Given the description of an element on the screen output the (x, y) to click on. 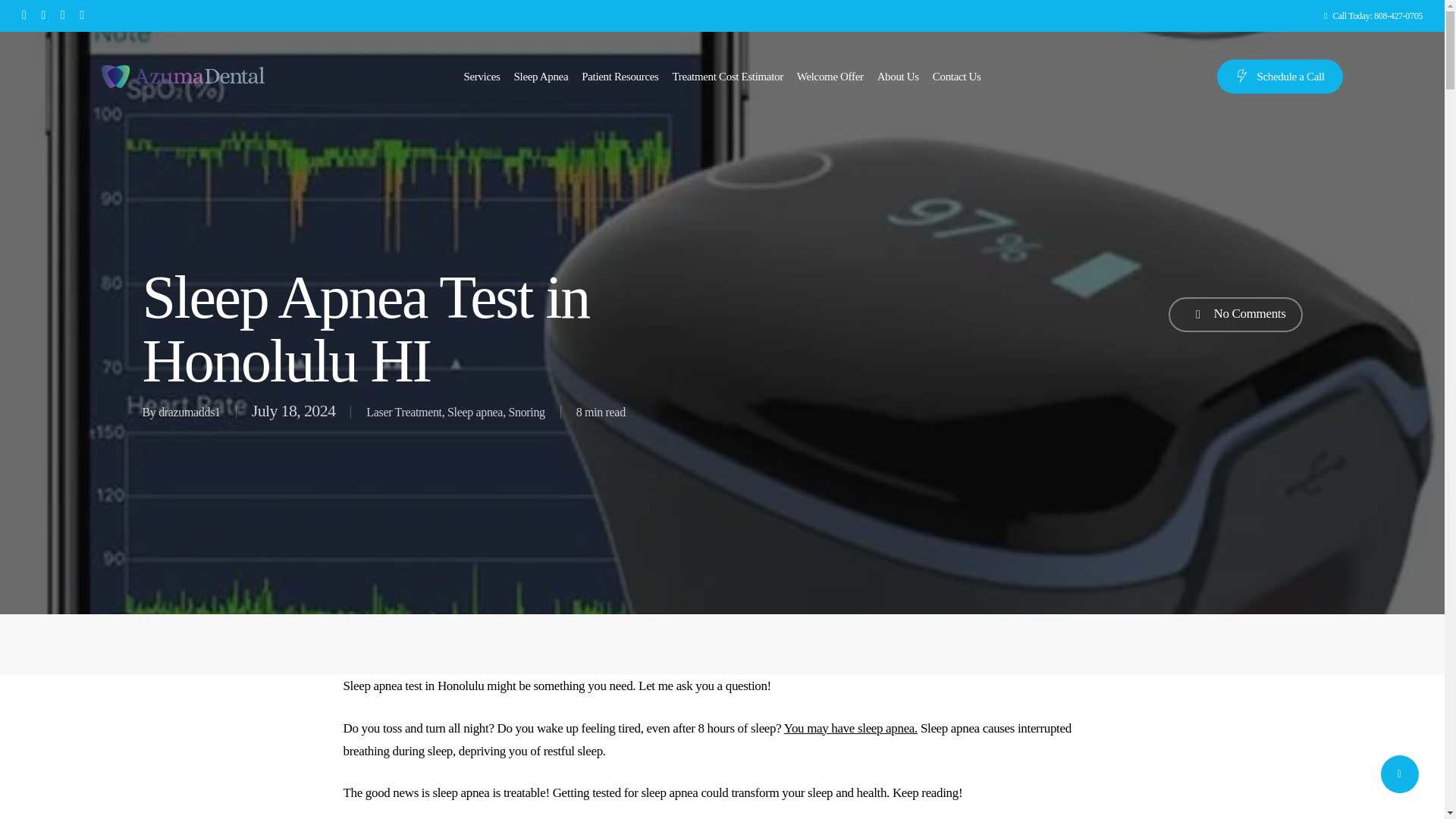
Patient Resources (619, 75)
Services (481, 75)
Posts by drazumadds1 (189, 411)
Sleep Apnea (1372, 15)
